Given the description of an element on the screen output the (x, y) to click on. 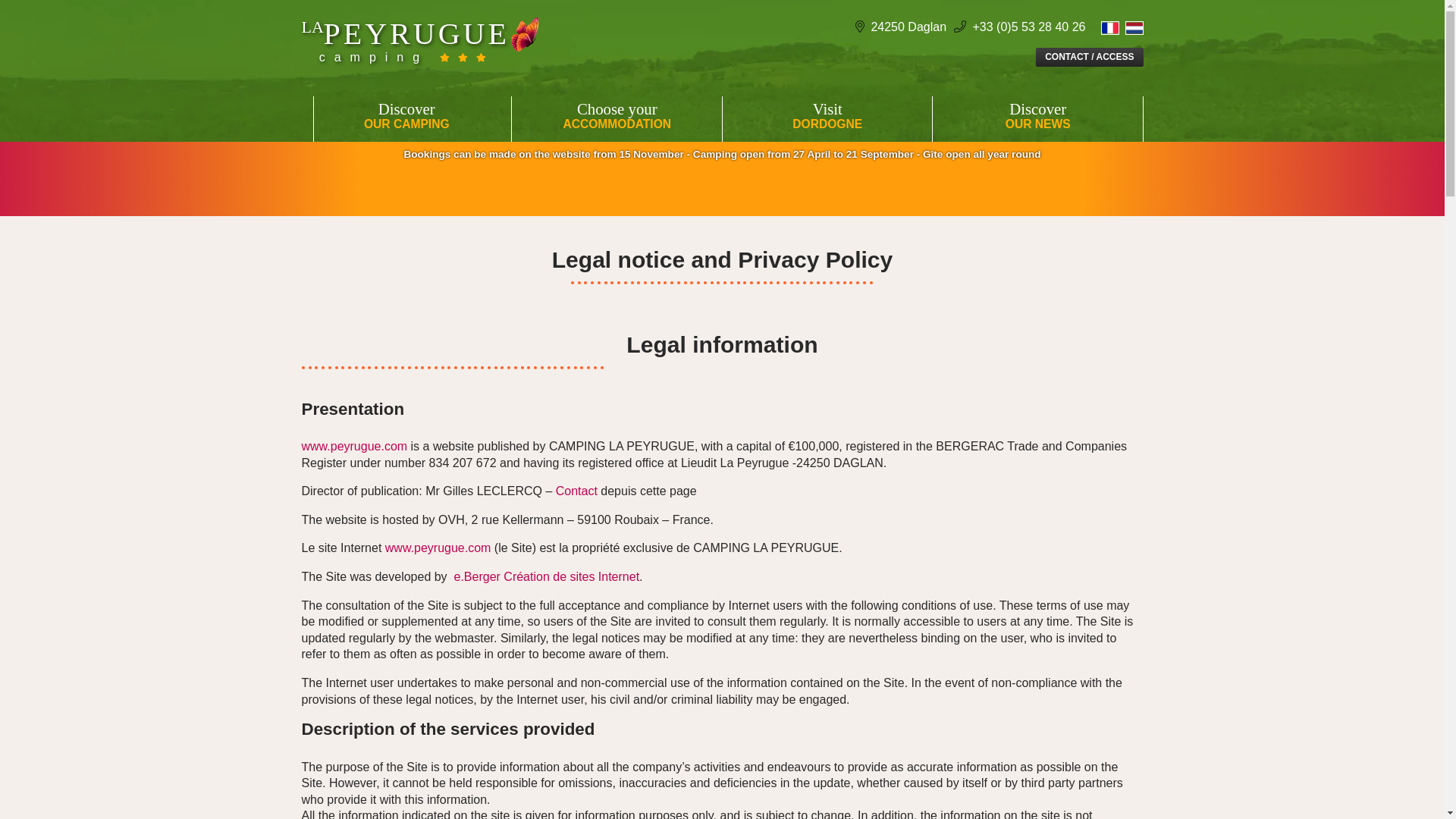
www.peyrugue.com  (1037, 117)
Camping La Peyrugue (406, 117)
Contact (355, 445)
call (827, 117)
www.peyrugue.com (420, 56)
